Given the description of an element on the screen output the (x, y) to click on. 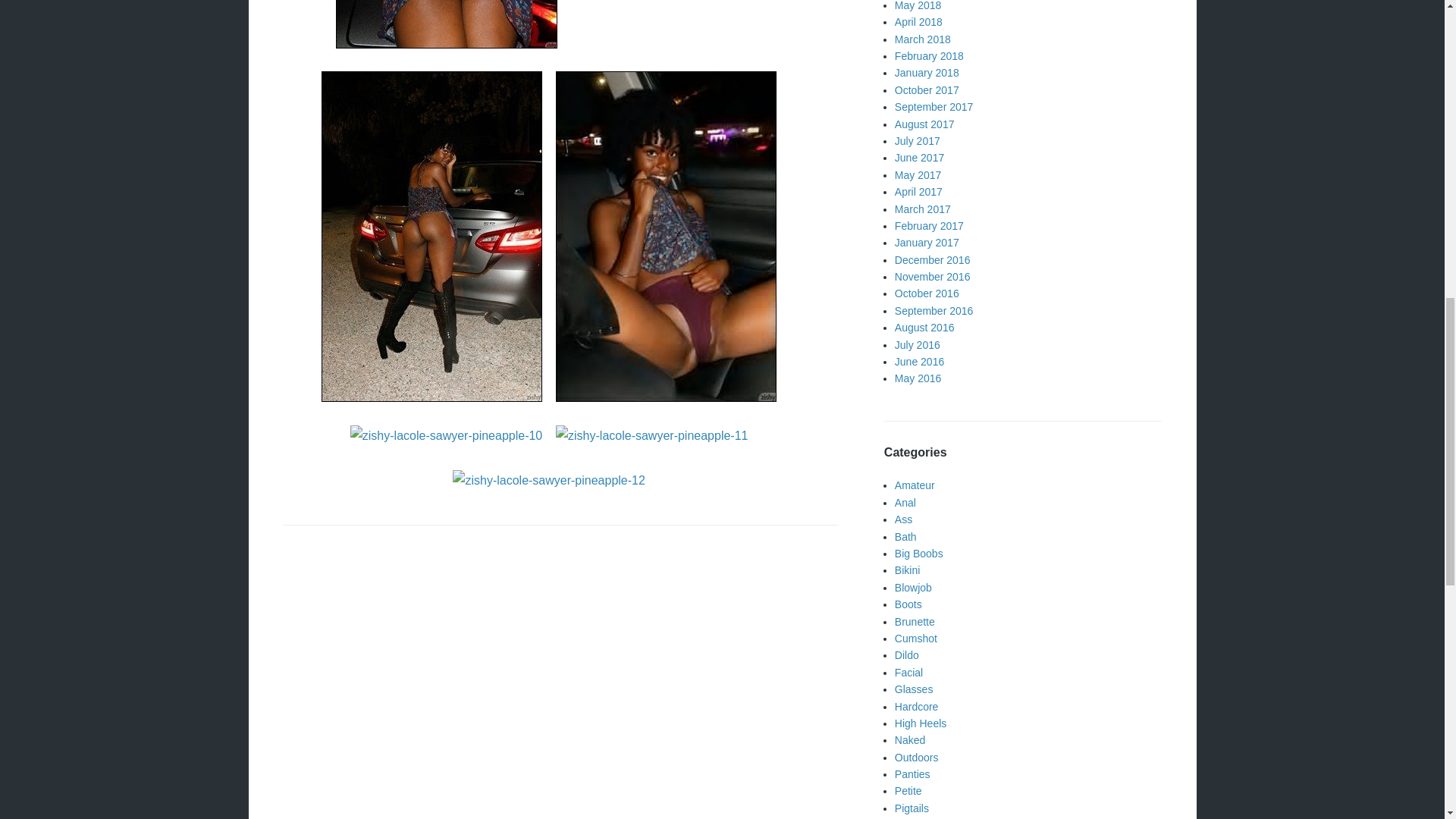
zishy-lacole-sawyer-pineapple-12 (548, 480)
zishy-lacole-sawyer-pineapple-06 (446, 24)
zishy-lacole-sawyer-pineapple-10 (445, 435)
April 2018 (918, 21)
zishy-lacole-sawyer-pineapple-11 (652, 435)
May 2018 (917, 5)
